Given the description of an element on the screen output the (x, y) to click on. 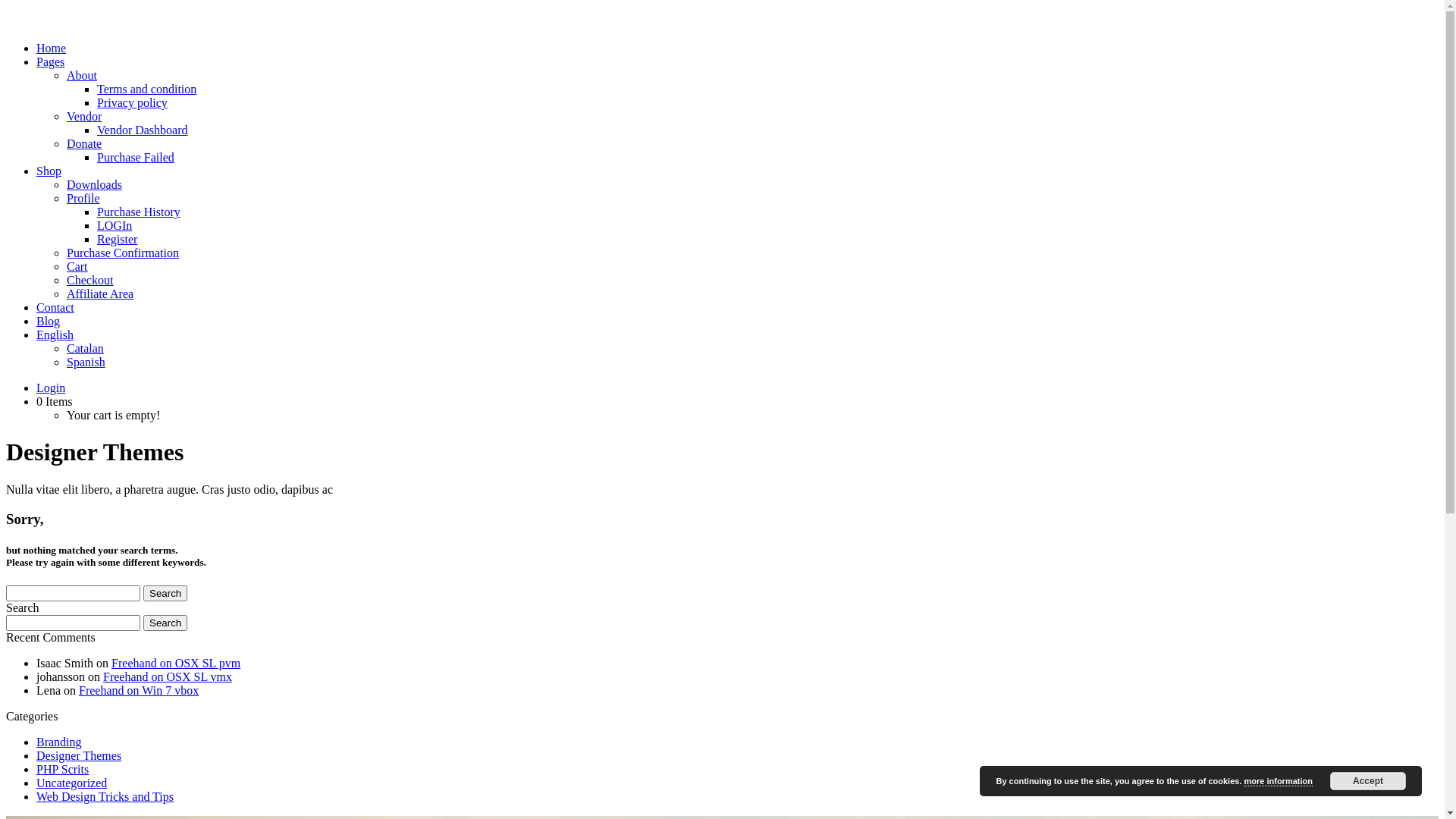
Profile Element type: text (83, 197)
Branding Element type: text (58, 741)
Purchase Confirmation Element type: text (122, 252)
Privacy policy Element type: text (132, 102)
English Element type: text (54, 334)
Vendor Dashboard Element type: text (142, 129)
Uncategorized Element type: text (71, 782)
Login Element type: text (50, 387)
Web Design Tricks and Tips Element type: text (104, 796)
Donate Element type: text (83, 143)
Cart Element type: text (76, 266)
Designer Themes Element type: text (78, 755)
Downloads Element type: text (94, 184)
Freehand on OSX SL pvm Element type: text (175, 662)
more information Element type: text (1277, 781)
Shop Element type: text (48, 170)
Contact Element type: text (55, 307)
PHP Scrits Element type: text (62, 768)
Catalan Element type: text (84, 348)
Spanish Element type: text (85, 361)
Vendor Element type: text (83, 115)
Register Element type: text (117, 238)
Purchase Failed Element type: text (135, 156)
Checkout Element type: text (89, 279)
Search Element type: text (165, 593)
Search Element type: text (165, 622)
Purchase History Element type: text (138, 211)
About Element type: text (81, 75)
Freehand on Win 7 vbox Element type: text (138, 690)
Pages Element type: text (50, 61)
LOGIn Element type: text (114, 225)
Home Element type: text (50, 47)
Accept Element type: text (1367, 780)
Affiliate Area Element type: text (99, 293)
Terms and condition Element type: text (146, 88)
Blog Element type: text (47, 320)
Freehand on OSX SL vmx Element type: text (167, 676)
